Given the description of an element on the screen output the (x, y) to click on. 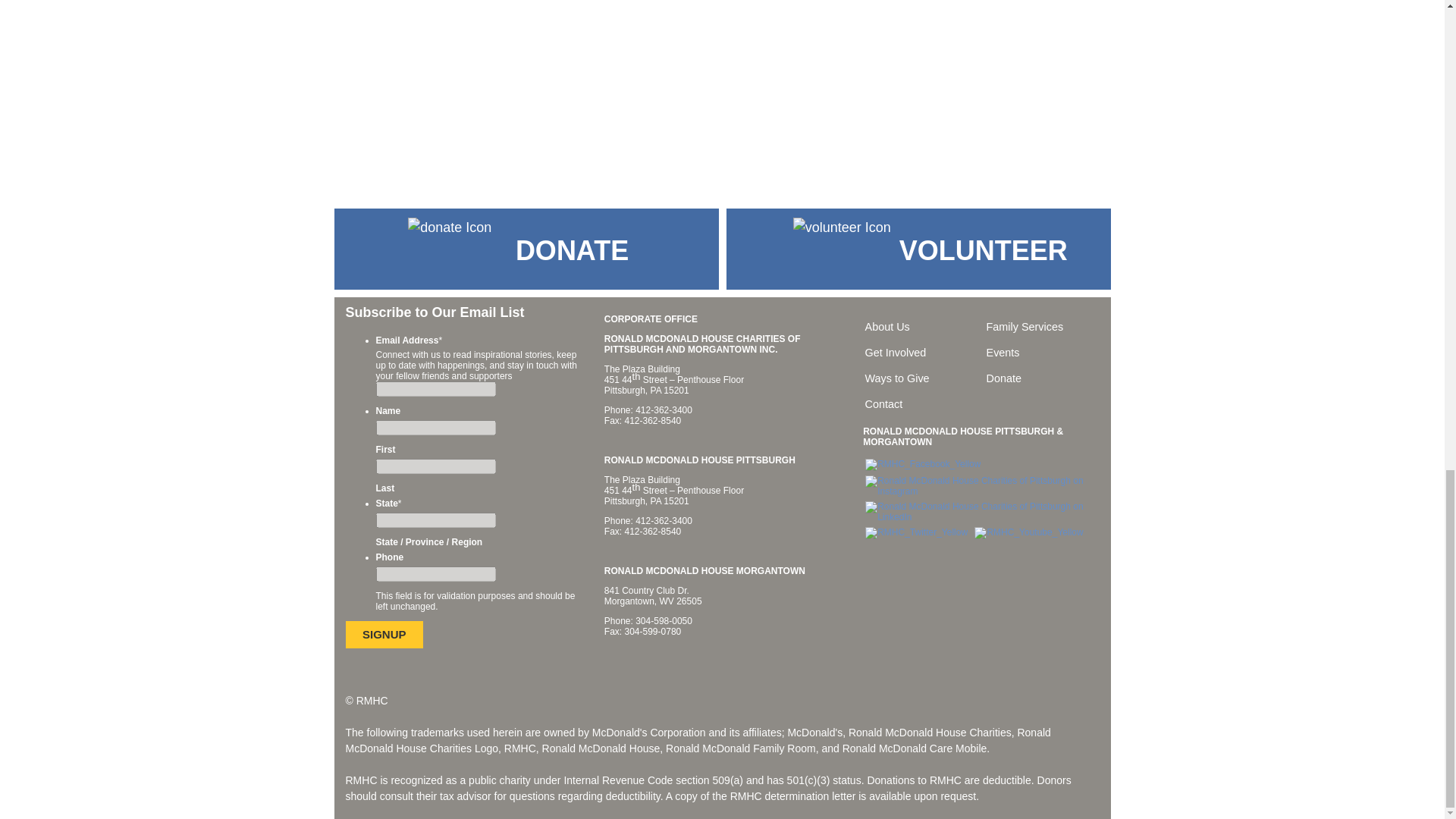
Signup (384, 634)
